Given the description of an element on the screen output the (x, y) to click on. 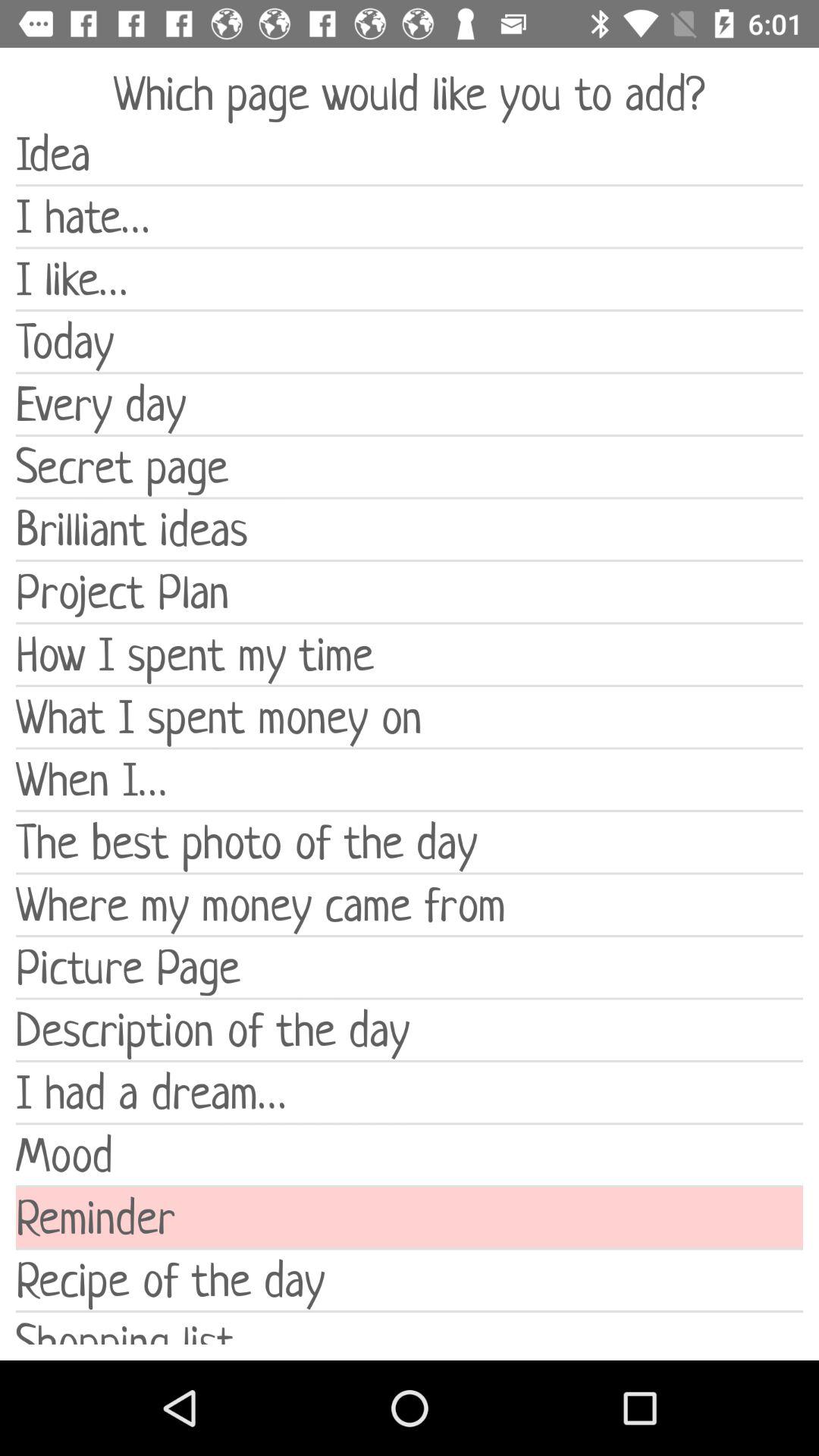
select the item below the brilliant ideas icon (409, 591)
